Given the description of an element on the screen output the (x, y) to click on. 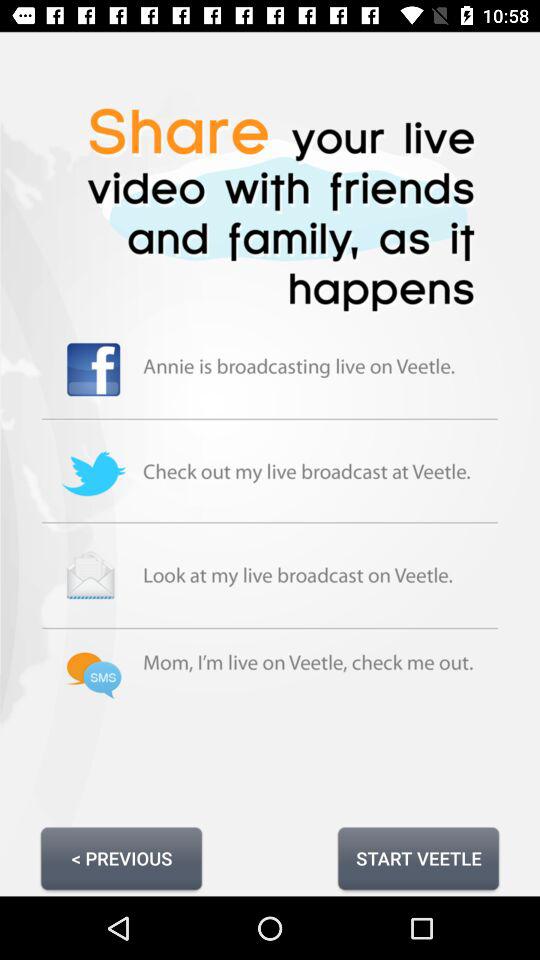
open the start veetle at the bottom right corner (418, 858)
